Given the description of an element on the screen output the (x, y) to click on. 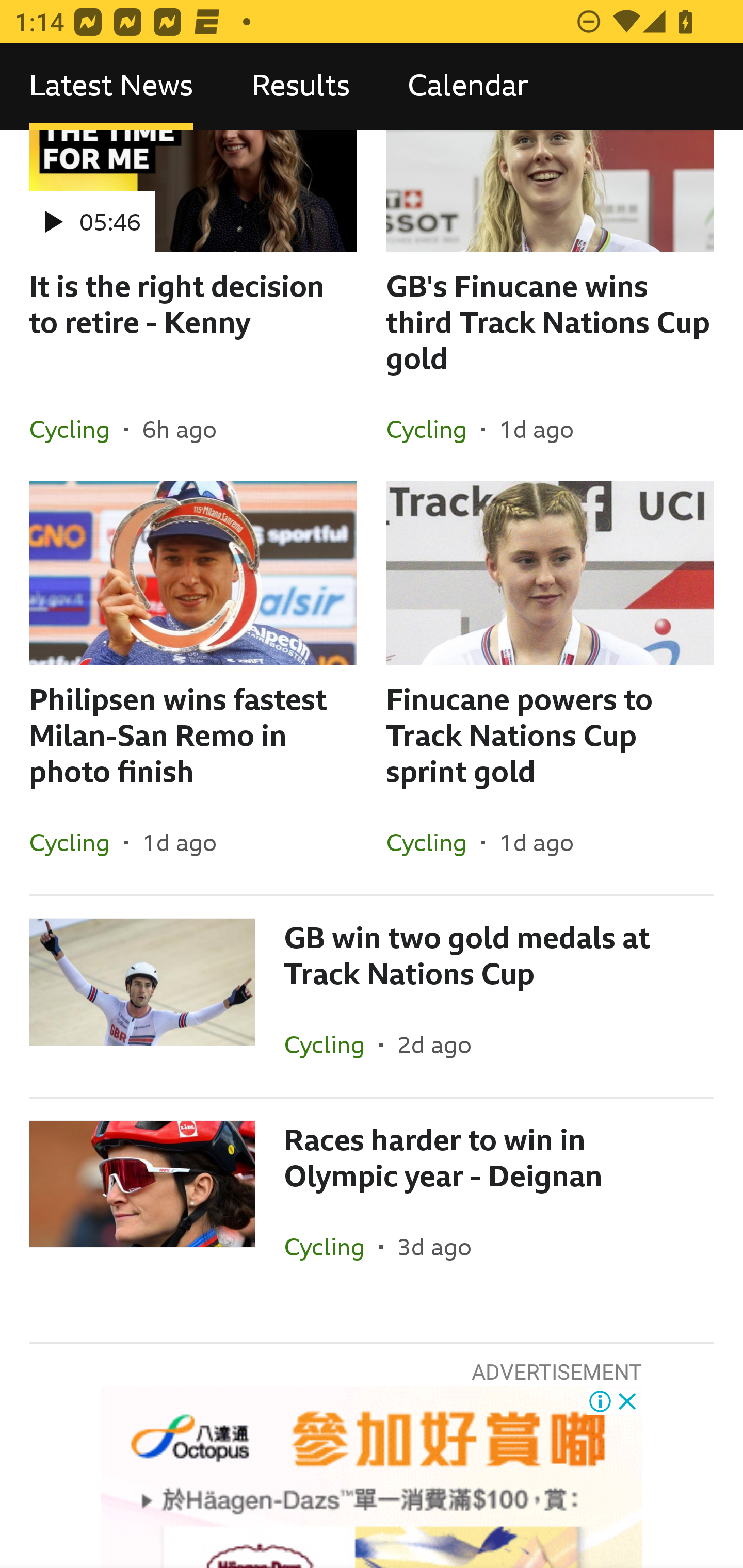
Latest News, selected Latest News (111, 86)
Results (300, 86)
Calendar (467, 86)
Advertisement (371, 1477)
